Given the description of an element on the screen output the (x, y) to click on. 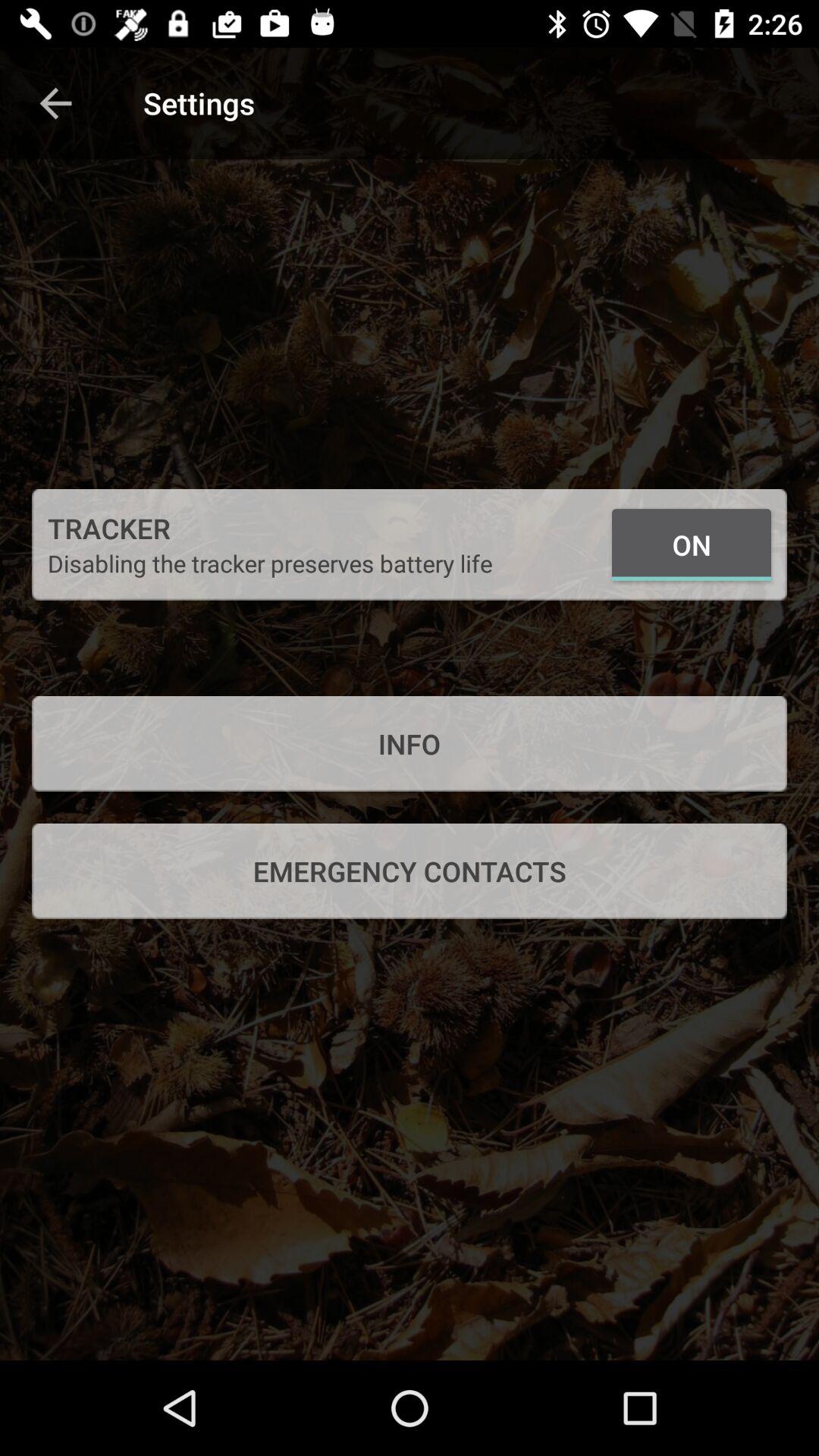
click icon next to the disabling the tracker icon (691, 544)
